Given the description of an element on the screen output the (x, y) to click on. 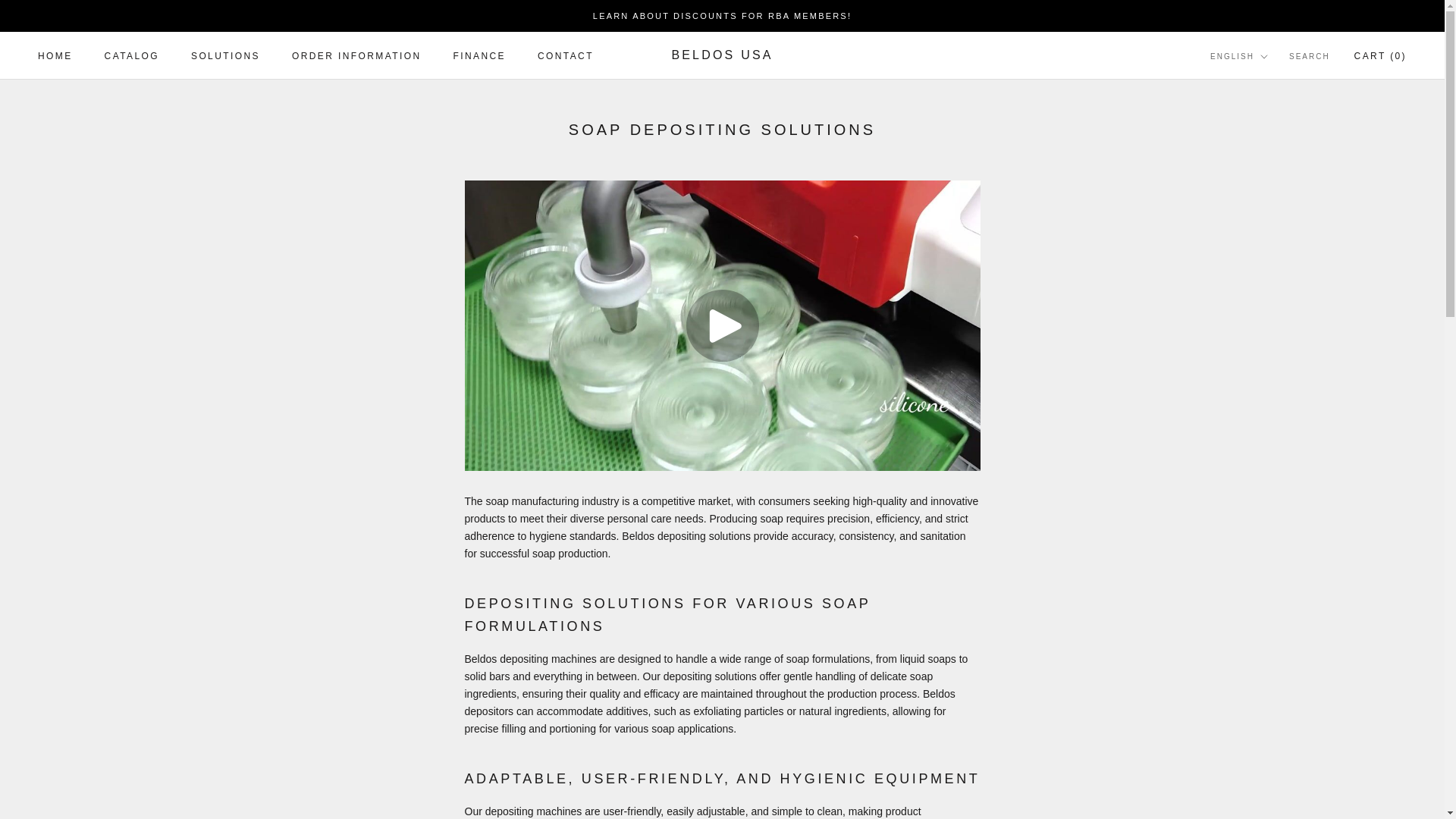
SOLUTIONS (225, 55)
LEARN ABOUT DISCOUNTS FOR RBA MEMBERS! (478, 55)
CATALOG (721, 15)
